Given the description of an element on the screen output the (x, y) to click on. 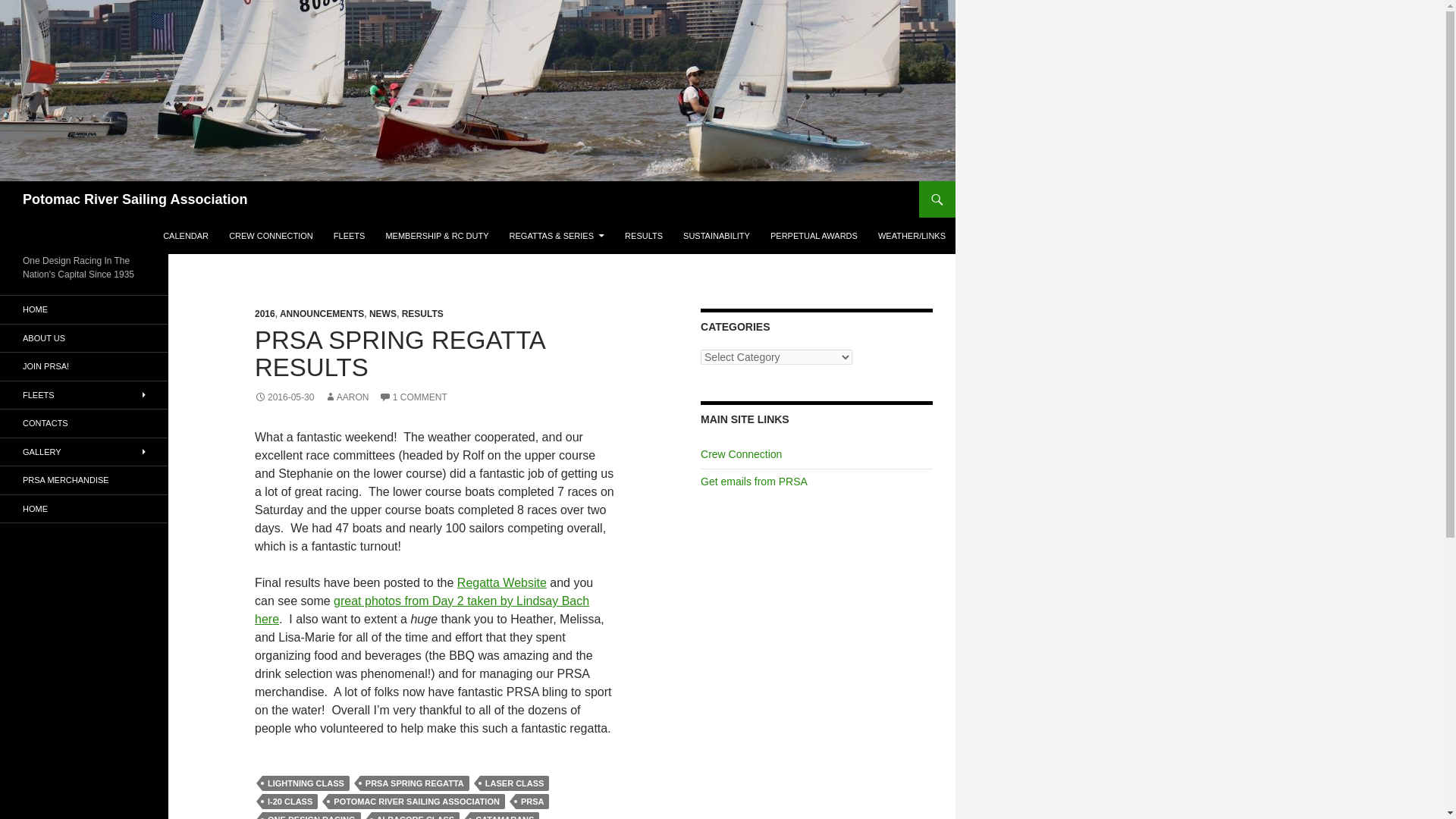
LASER CLASS (515, 783)
2016-05-30 (284, 397)
CATAMARANS (504, 815)
PRSA SPRING REGATTA (413, 783)
I-20 CLASS (289, 801)
LIGHTNING CLASS (305, 783)
Potomac River Sailing Association (135, 198)
POTOMAC RIVER SAILING ASSOCIATION (417, 801)
1 COMMENT (412, 397)
ALBACORE CLASS (415, 815)
